Given the description of an element on the screen output the (x, y) to click on. 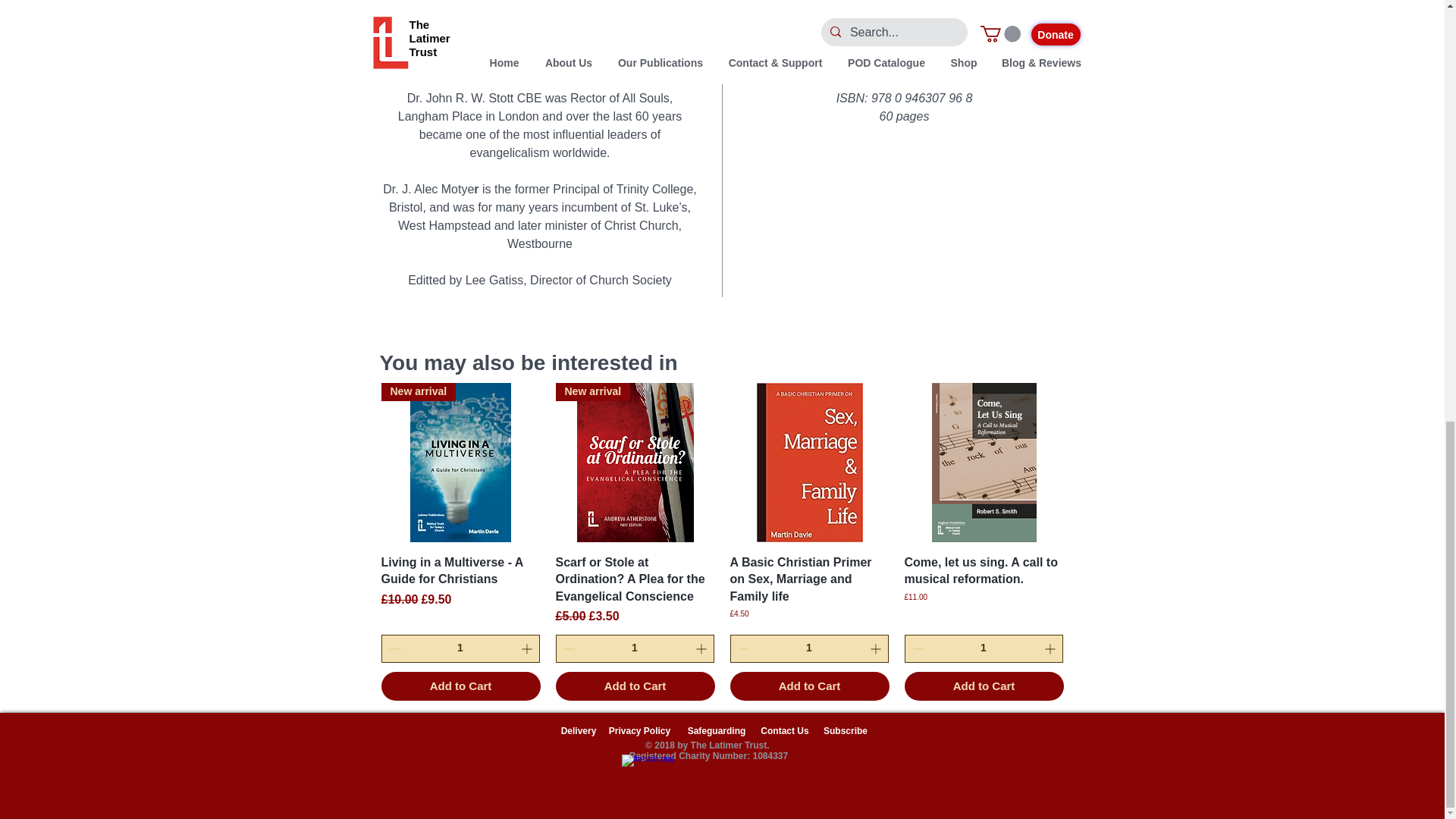
Add to Cart (460, 686)
New arrival (634, 462)
New arrival (460, 462)
1 (459, 648)
1 (634, 648)
1 (982, 648)
1 (808, 648)
